Given the description of an element on the screen output the (x, y) to click on. 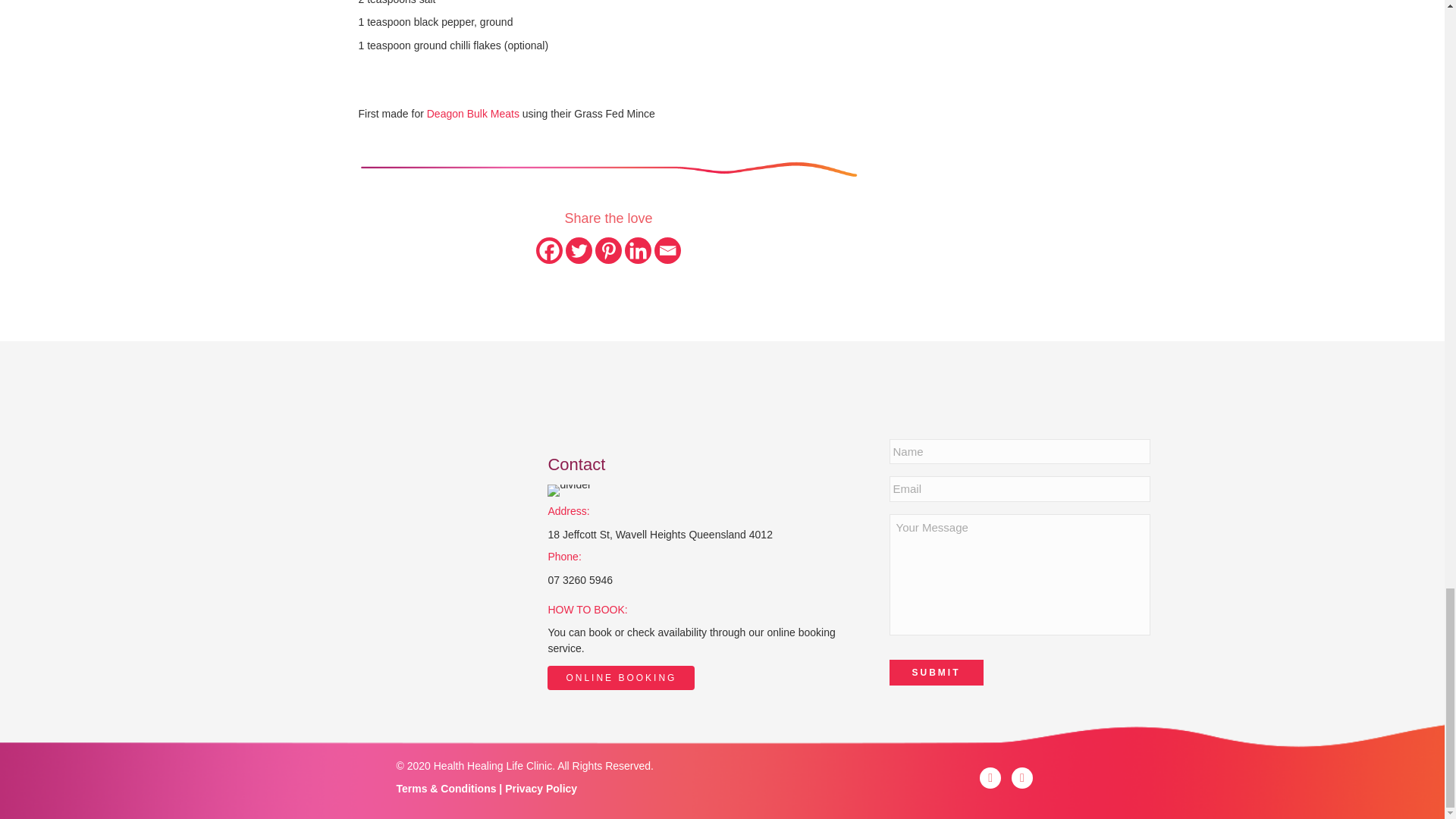
Email (667, 250)
Submit (936, 672)
Twitter (579, 250)
Facebook (548, 250)
Pinterest (608, 250)
divider (608, 169)
Linkedin (637, 250)
Deagon Bulk Meats (472, 113)
